Given the description of an element on the screen output the (x, y) to click on. 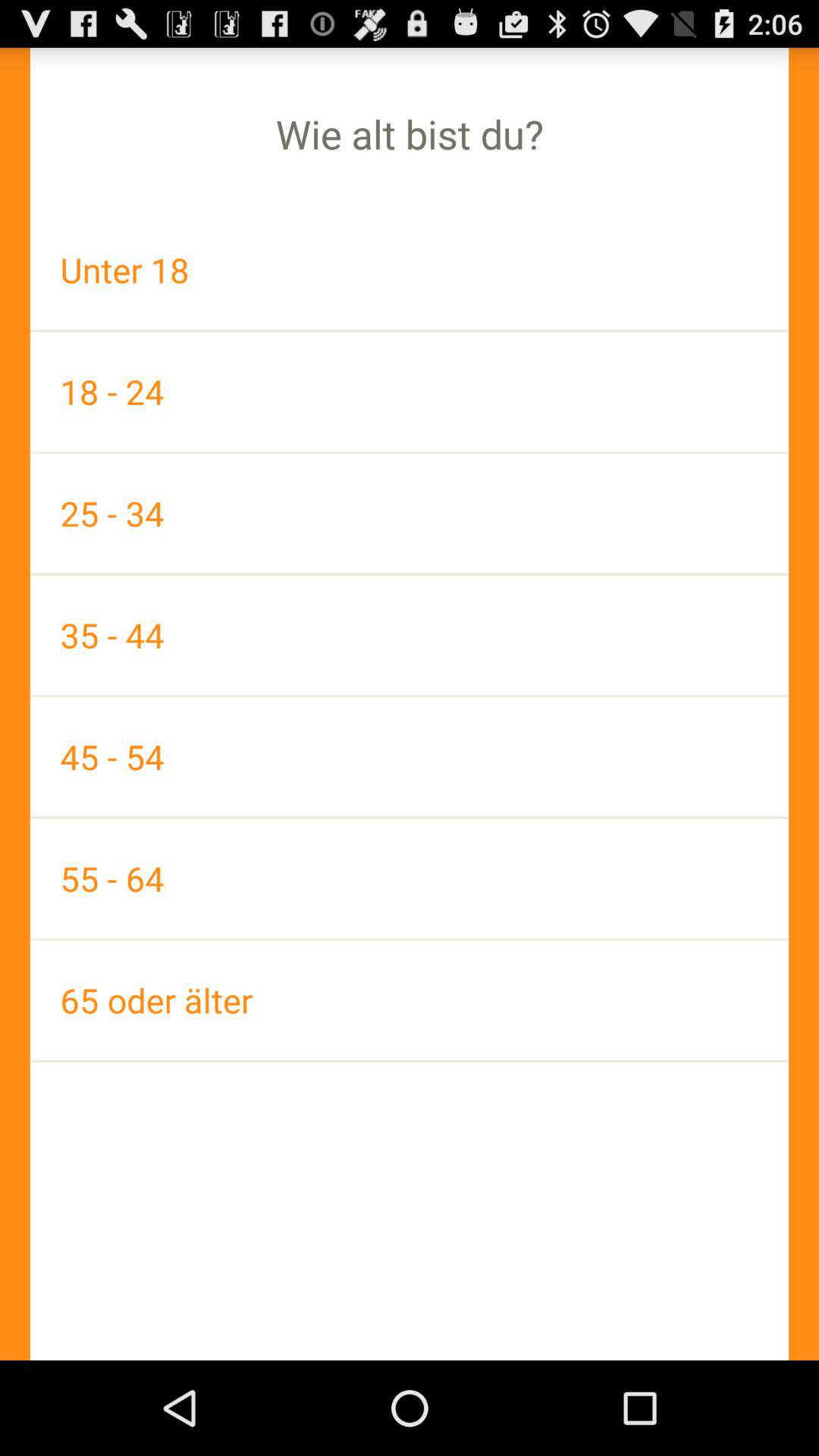
scroll to the 25 - 34 (409, 513)
